Given the description of an element on the screen output the (x, y) to click on. 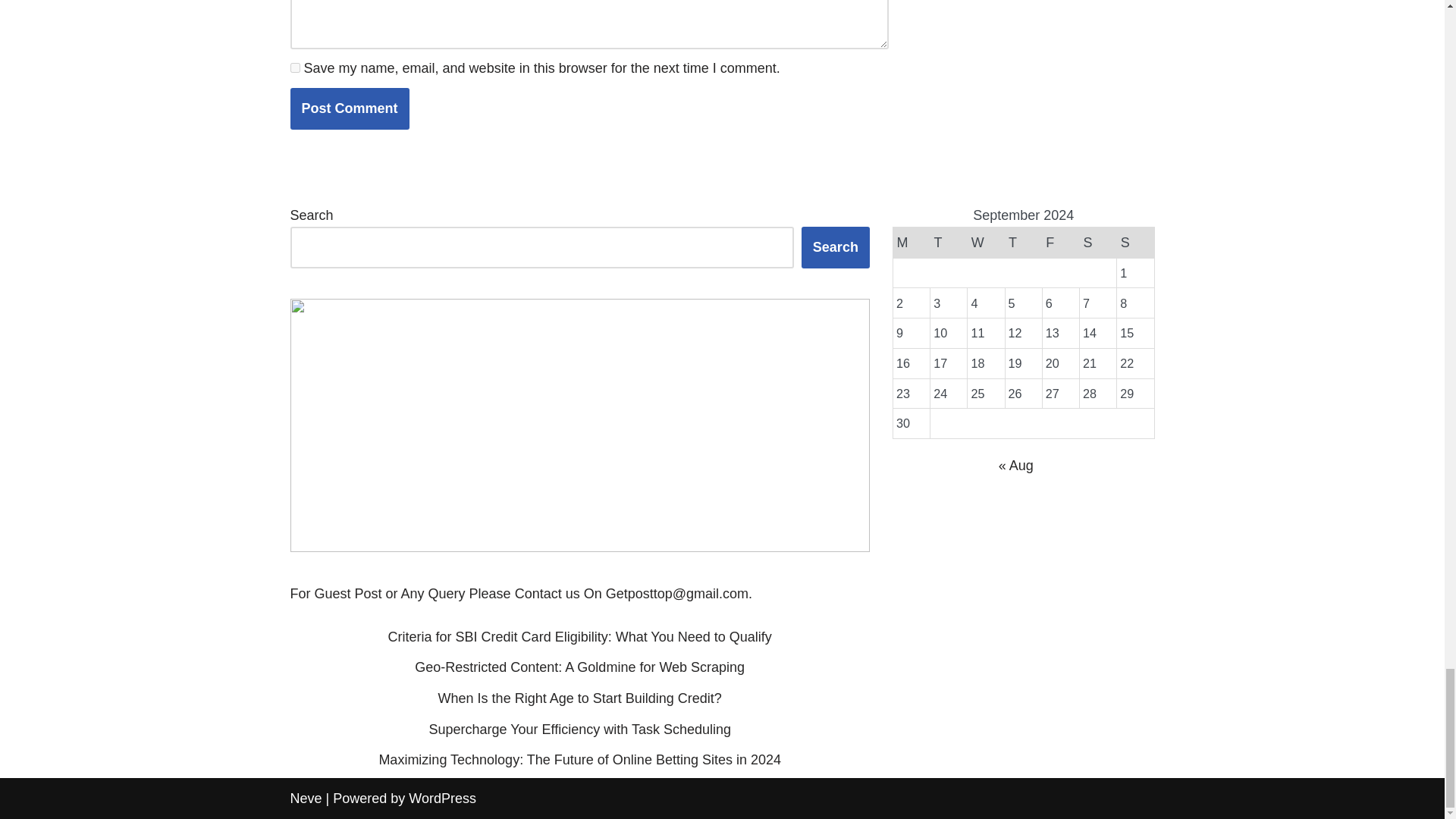
Friday (1060, 242)
Monday (911, 242)
Thursday (1023, 242)
Sunday (1135, 242)
Tuesday (949, 242)
Post Comment (349, 108)
yes (294, 67)
Saturday (1097, 242)
Wednesday (986, 242)
